Given the description of an element on the screen output the (x, y) to click on. 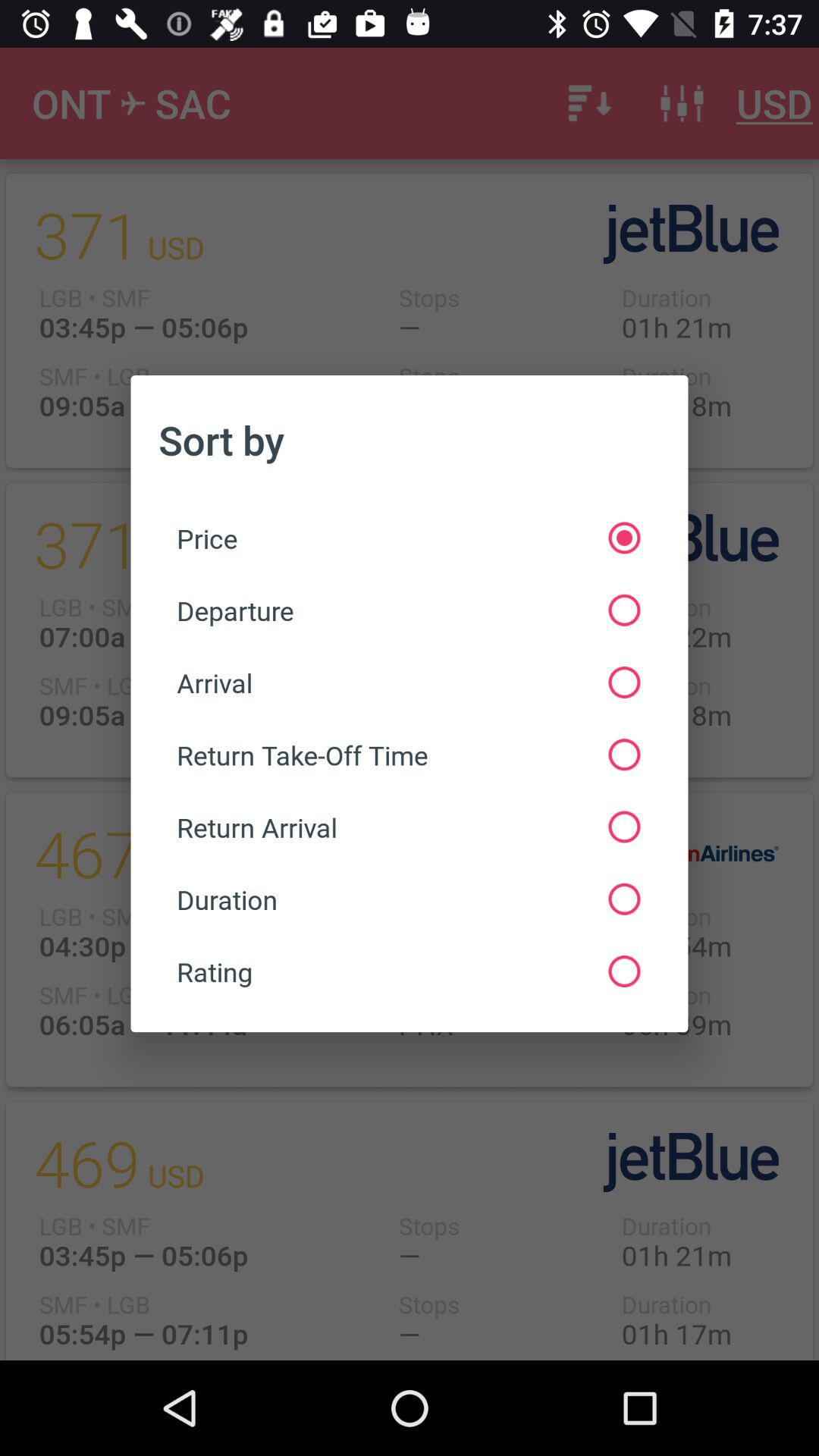
choose the return arrival (408, 827)
